Given the description of an element on the screen output the (x, y) to click on. 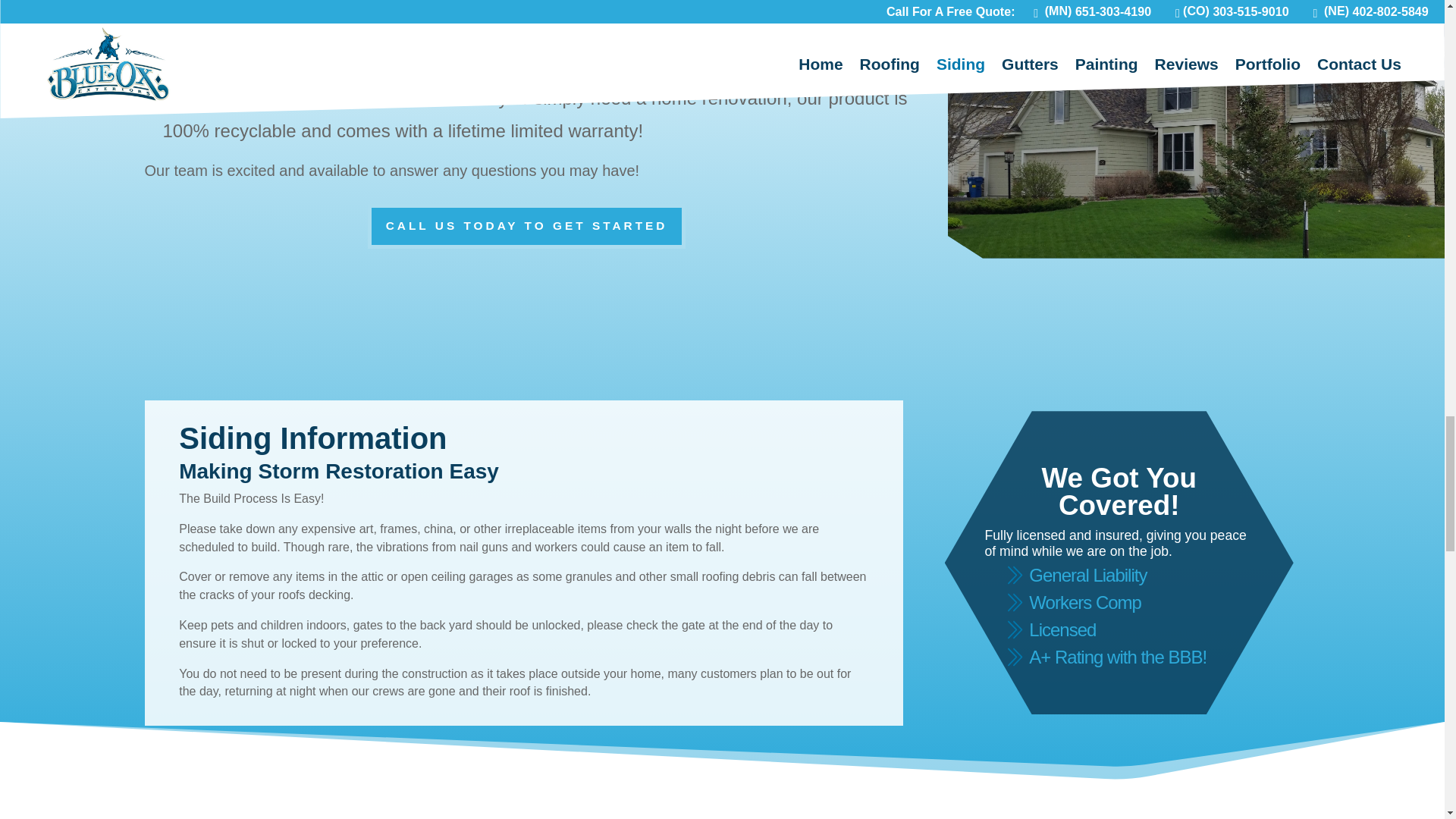
CALL US TODAY TO GET STARTED (526, 225)
Licensed (1062, 629)
